Given the description of an element on the screen output the (x, y) to click on. 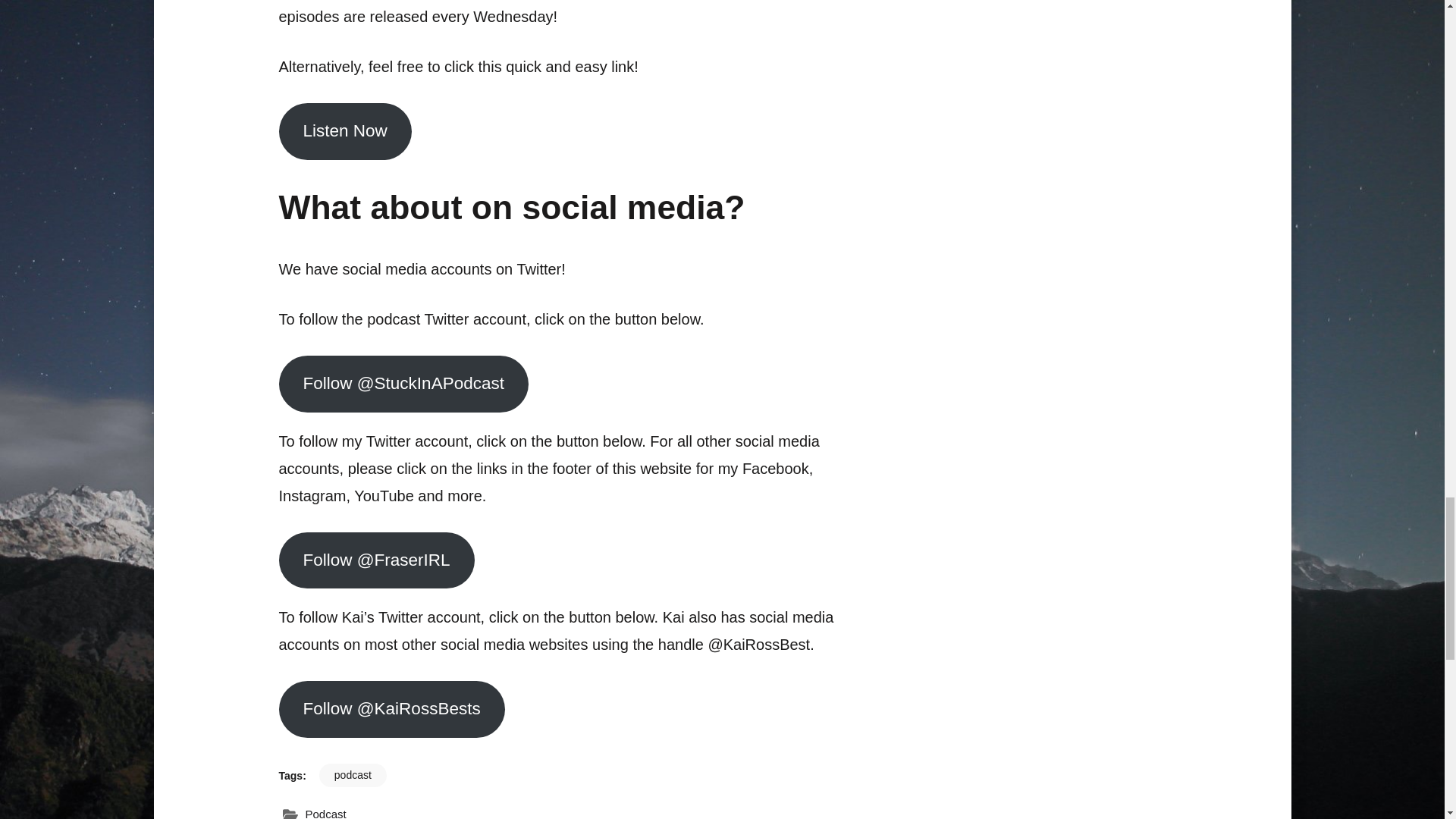
Listen Now (345, 131)
podcast (352, 775)
Podcast (325, 811)
